Given the description of an element on the screen output the (x, y) to click on. 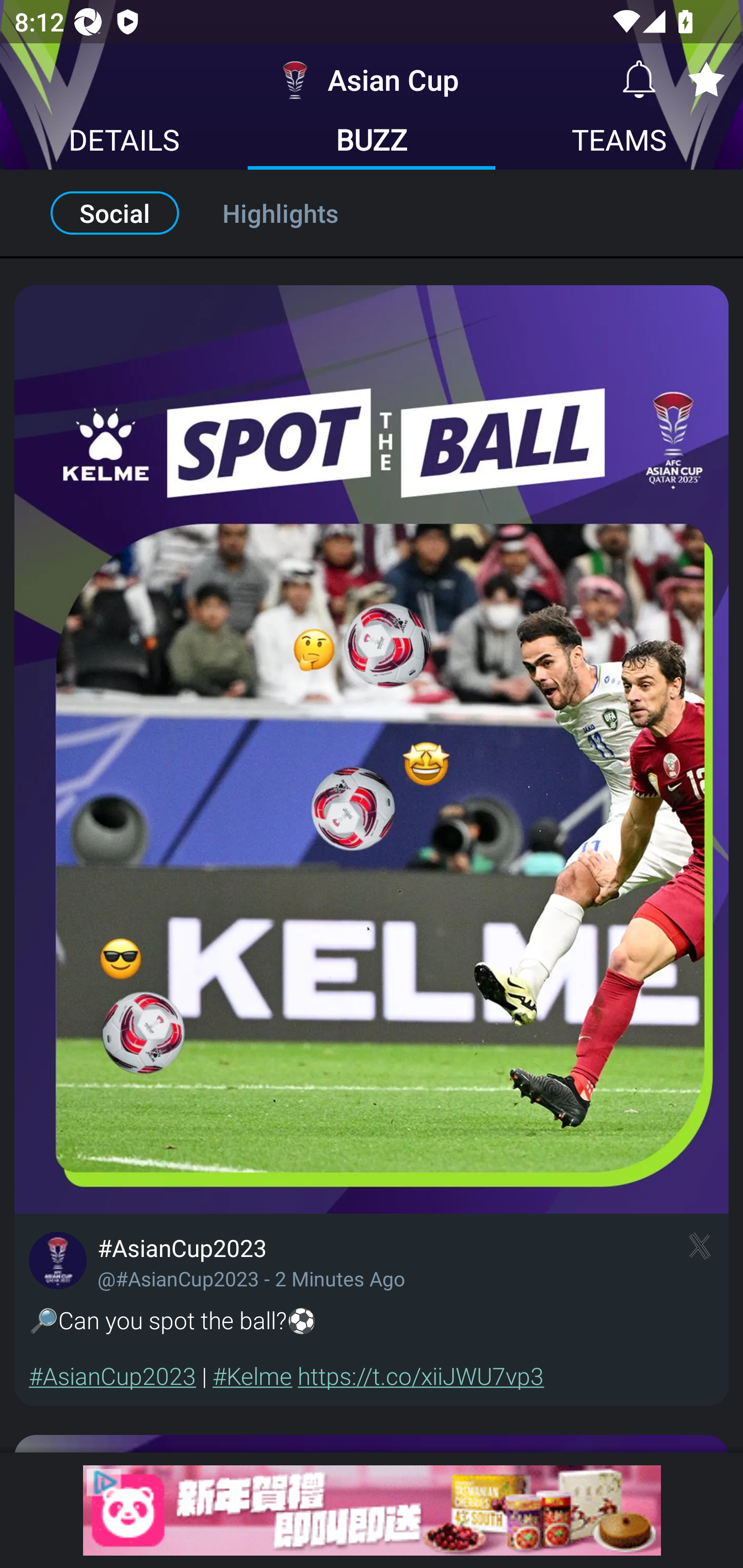
DETAILS (123, 142)
BUZZ (371, 142)
TEAMS (619, 142)
Highlights (301, 212)
mg0gkqli_320x50 (371, 1509)
